Given the description of an element on the screen output the (x, y) to click on. 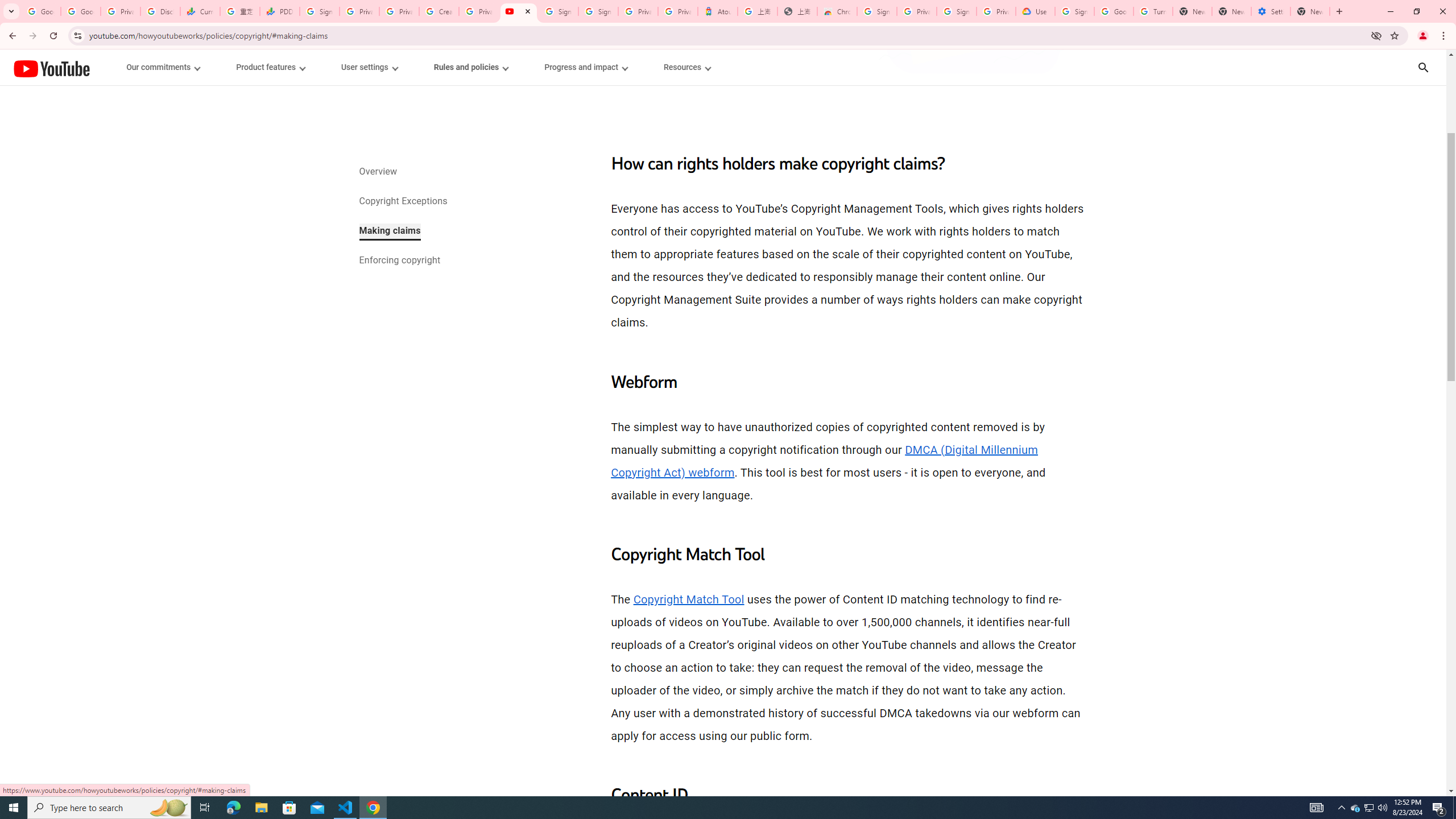
Our commitments menupopup (163, 67)
Settings - System (1270, 11)
Atour Hotel - Google hotels (717, 11)
Copyright Match Tool (688, 599)
YouTube Copyright Rules & Policies - How YouTube Works (518, 11)
Create your Google Account (438, 11)
JUMP TO CONTENT (118, 67)
